Given the description of an element on the screen output the (x, y) to click on. 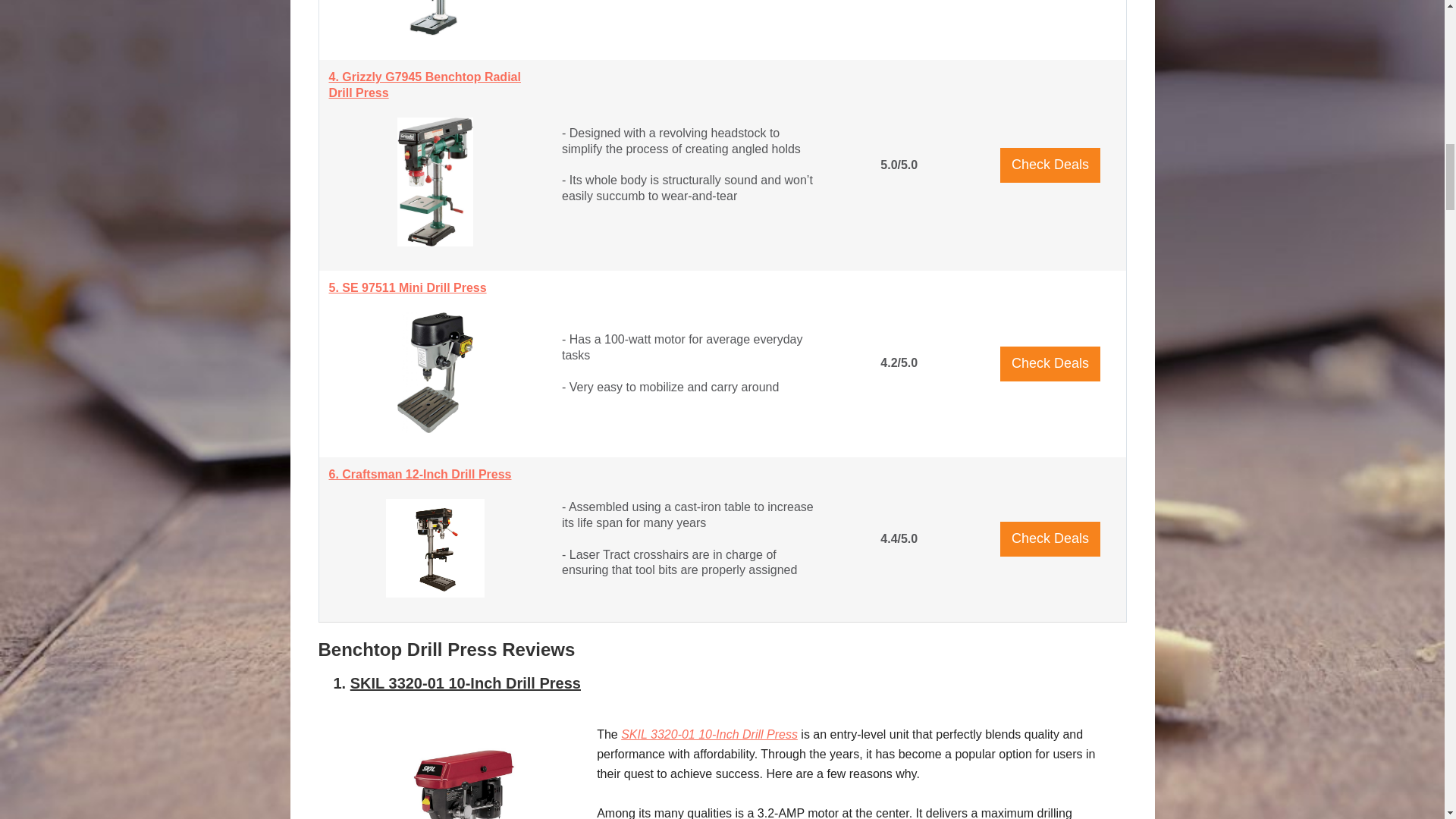
Shop Fox W1668 3:4 HP Bench-Top Oscillating Drill Press (435, 18)
SKIL 3320-01 3.2 Amp 10-Inch Drill Press (458, 779)
Craftsman 12 in. Drill Press (434, 547)
